Given the description of an element on the screen output the (x, y) to click on. 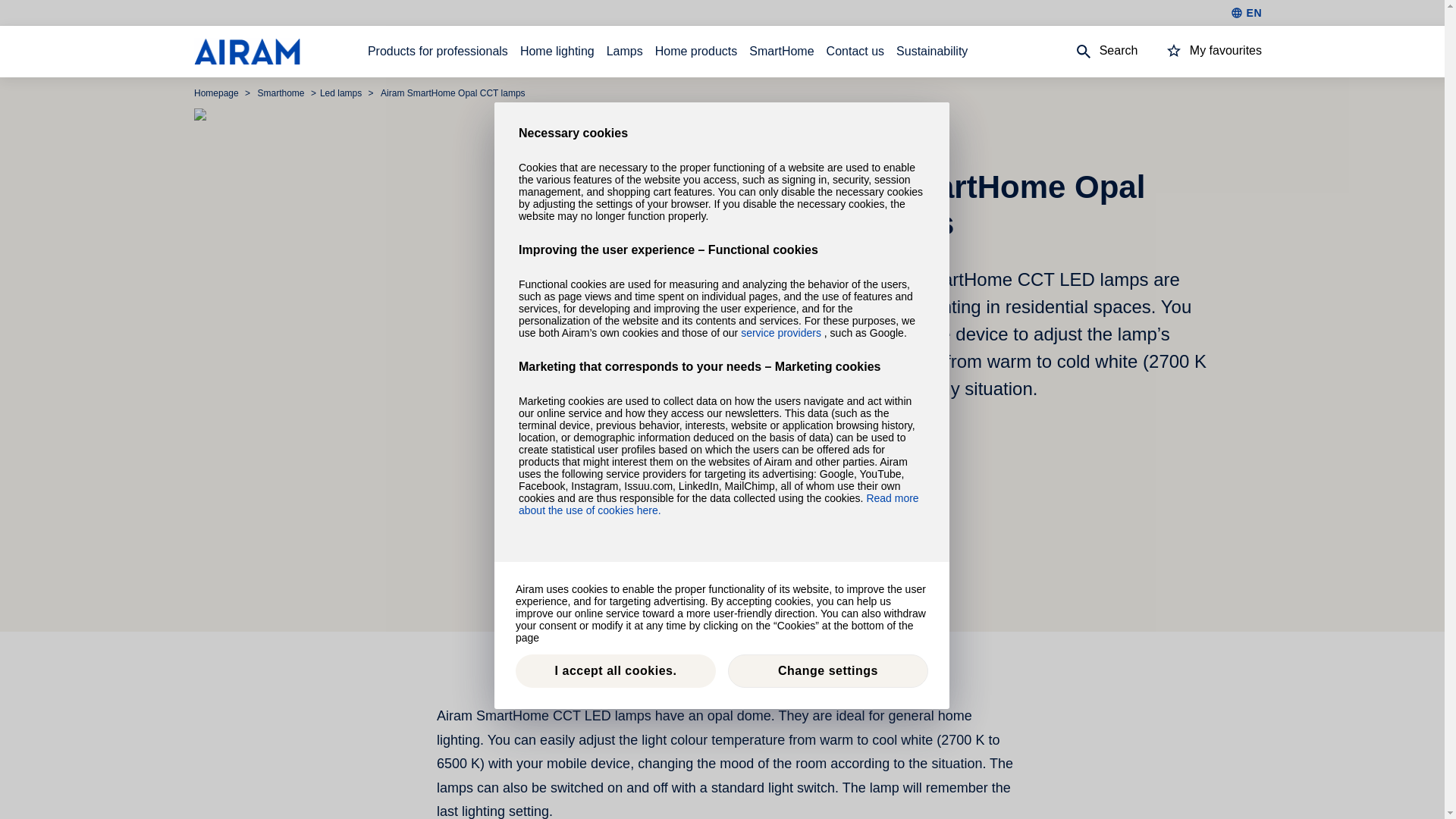
My favourites (1199, 51)
Smarthome (282, 92)
Lamps (625, 51)
Contact us (855, 51)
My favourites (1199, 50)
Home lighting (556, 51)
Homepage (217, 92)
Led lamps (342, 92)
Sustainability (932, 51)
EN (1246, 12)
